Given the description of an element on the screen output the (x, y) to click on. 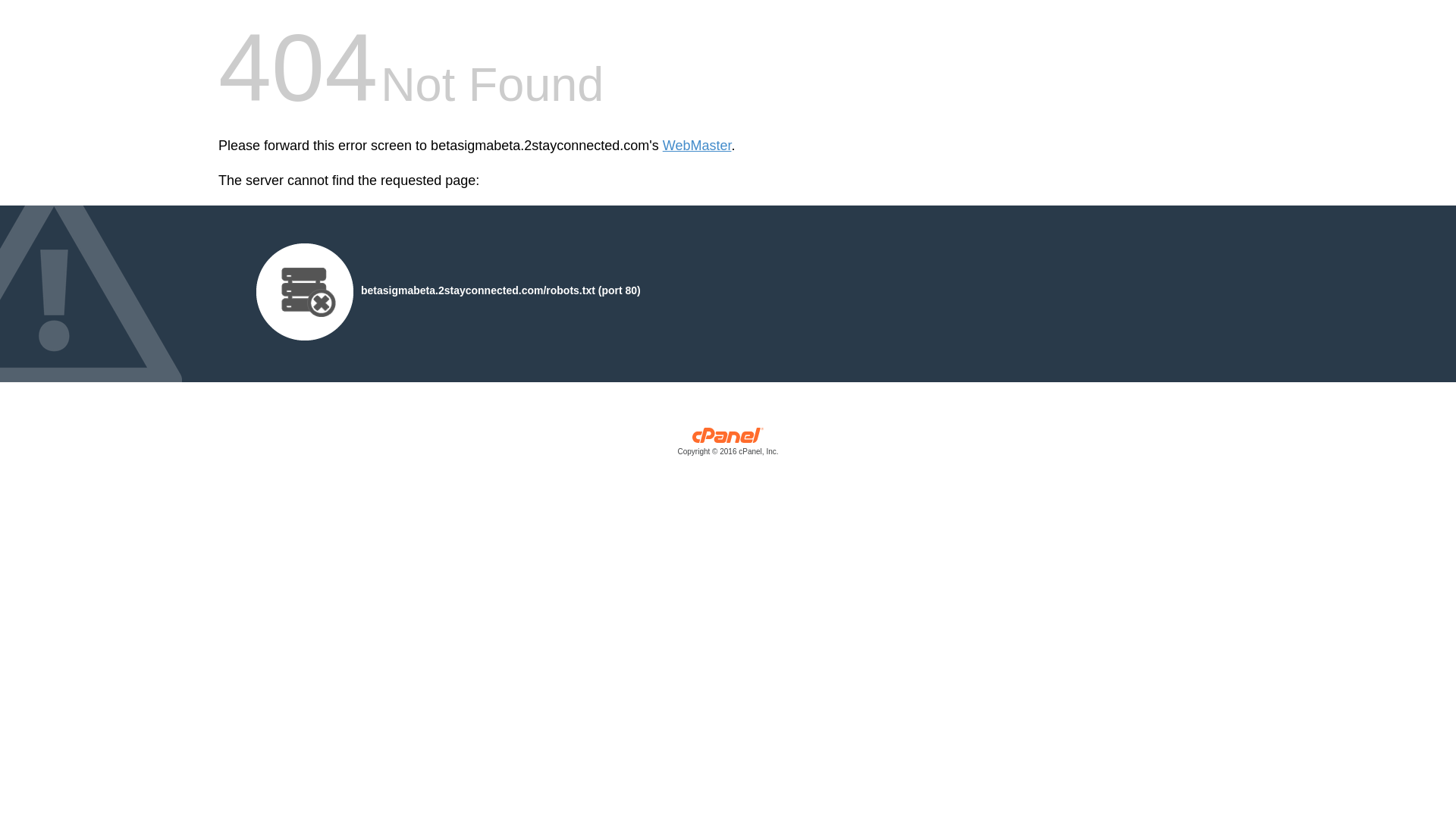
WebMaster Element type: text (696, 145)
